Given the description of an element on the screen output the (x, y) to click on. 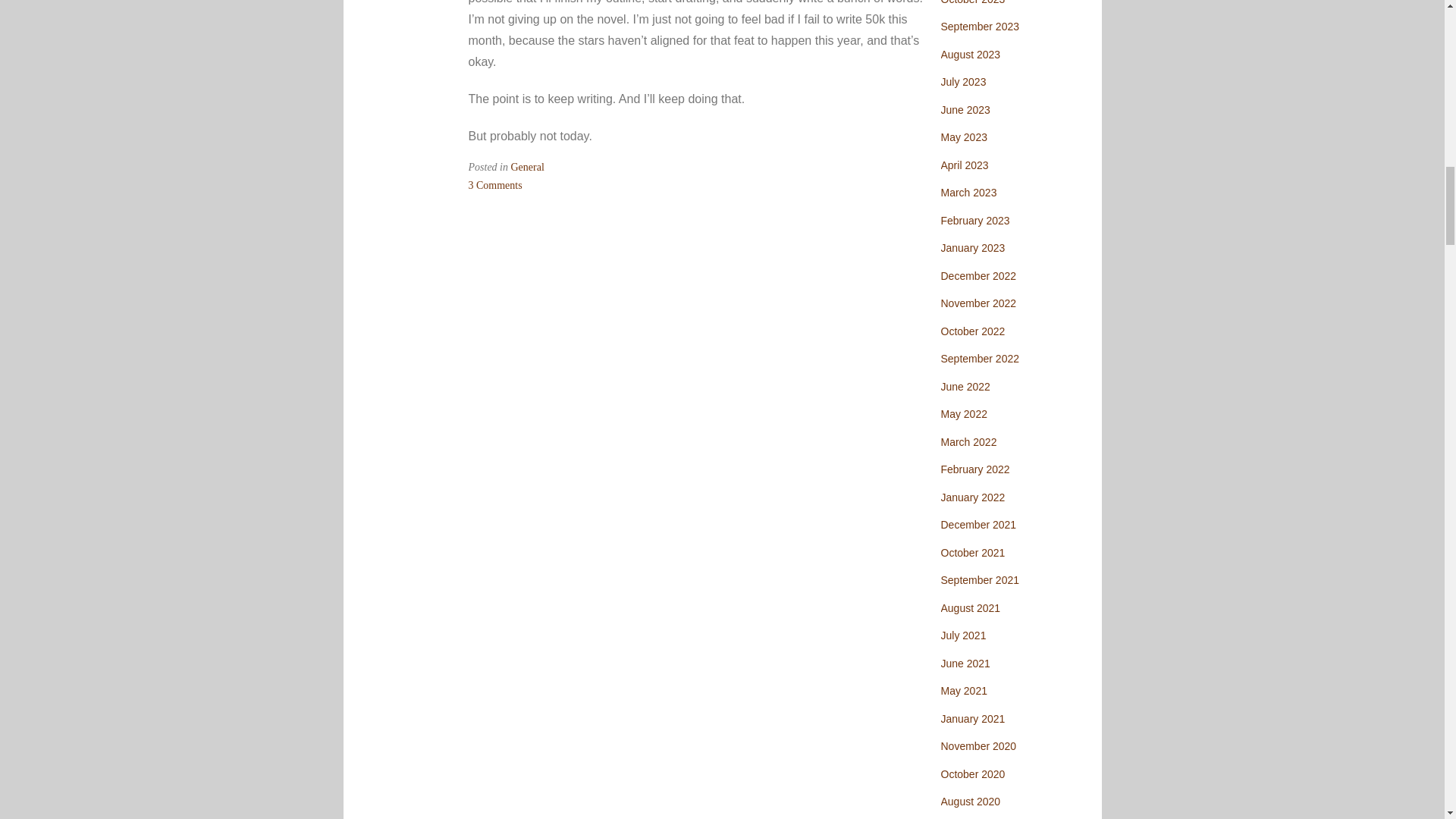
January 2023 (972, 247)
March 2023 (967, 192)
September 2023 (979, 26)
August 2023 (970, 54)
February 2023 (974, 220)
October 2023 (972, 2)
General (527, 166)
April 2023 (964, 164)
July 2023 (962, 81)
